Given the description of an element on the screen output the (x, y) to click on. 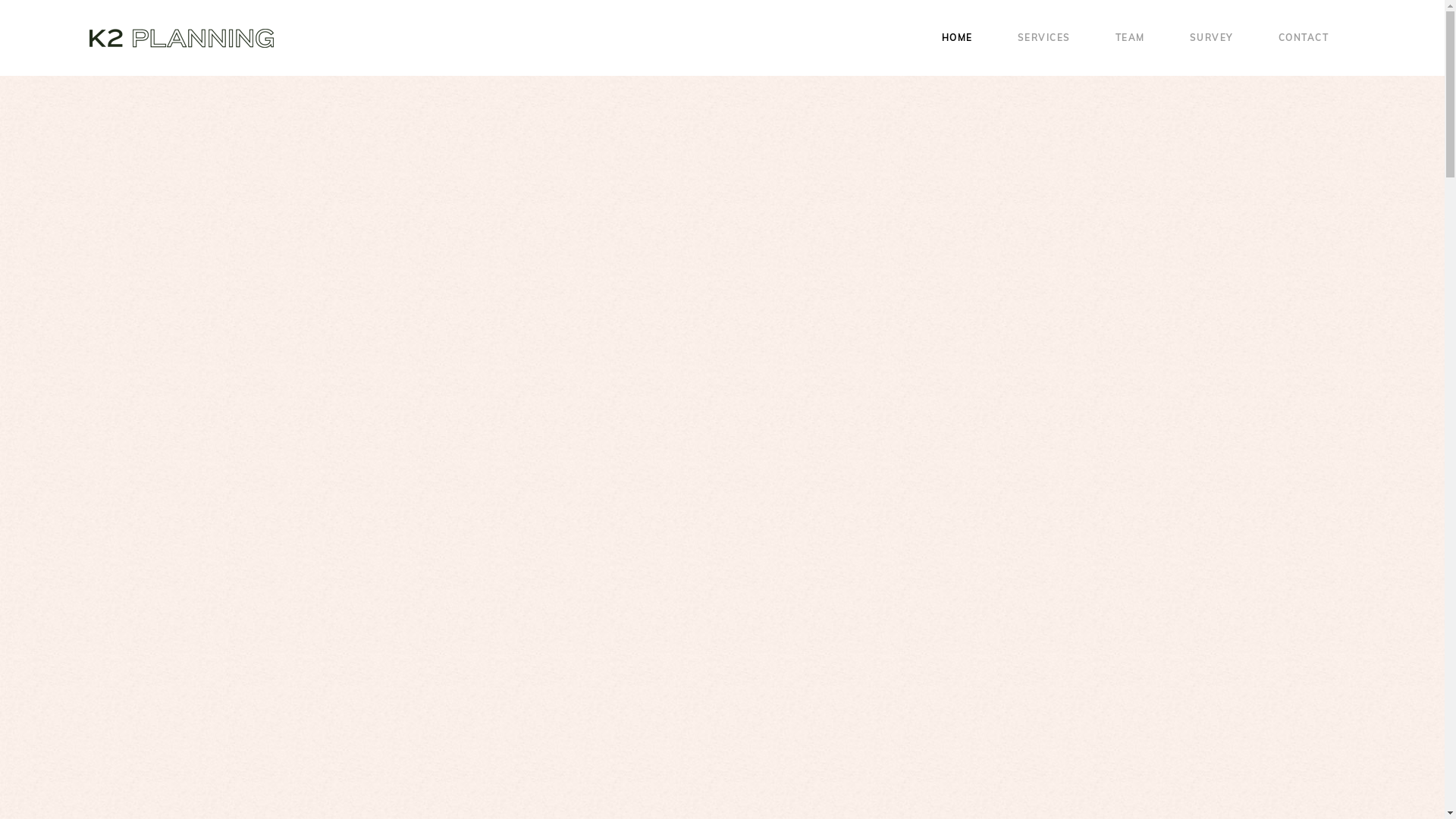
CONTACT Element type: text (1314, 37)
HOME Element type: text (968, 37)
TEAM Element type: text (1140, 37)
SERVICES Element type: text (1055, 37)
SURVEY Element type: text (1222, 37)
